Given the description of an element on the screen output the (x, y) to click on. 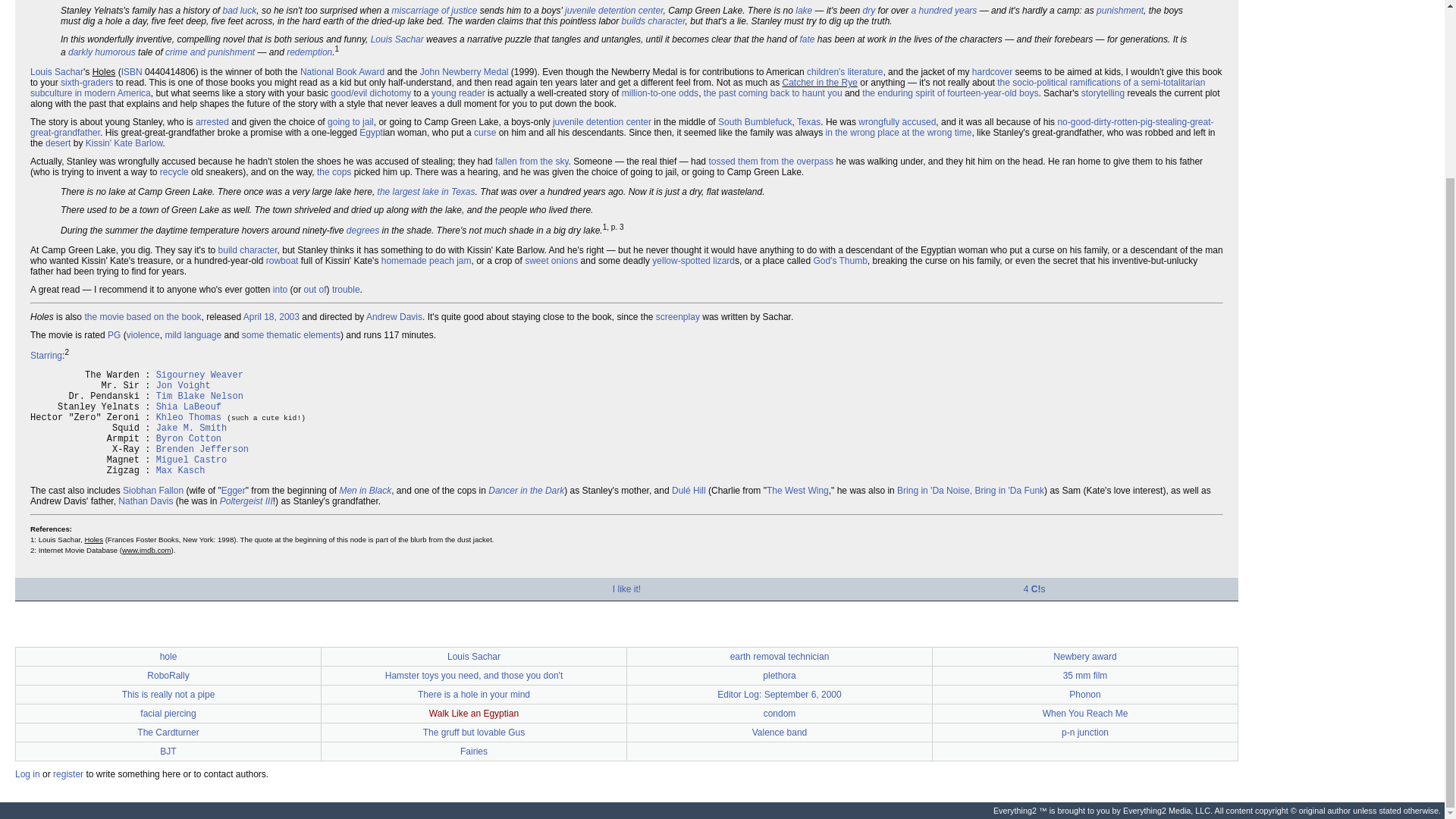
builds character (653, 20)
ISBN (131, 71)
darkly humorous (101, 51)
sixth-graders (87, 81)
fate (806, 39)
lake (803, 9)
detention center (630, 9)
Louis Sachar (397, 39)
fate (806, 39)
juvenile (579, 9)
